Given the description of an element on the screen output the (x, y) to click on. 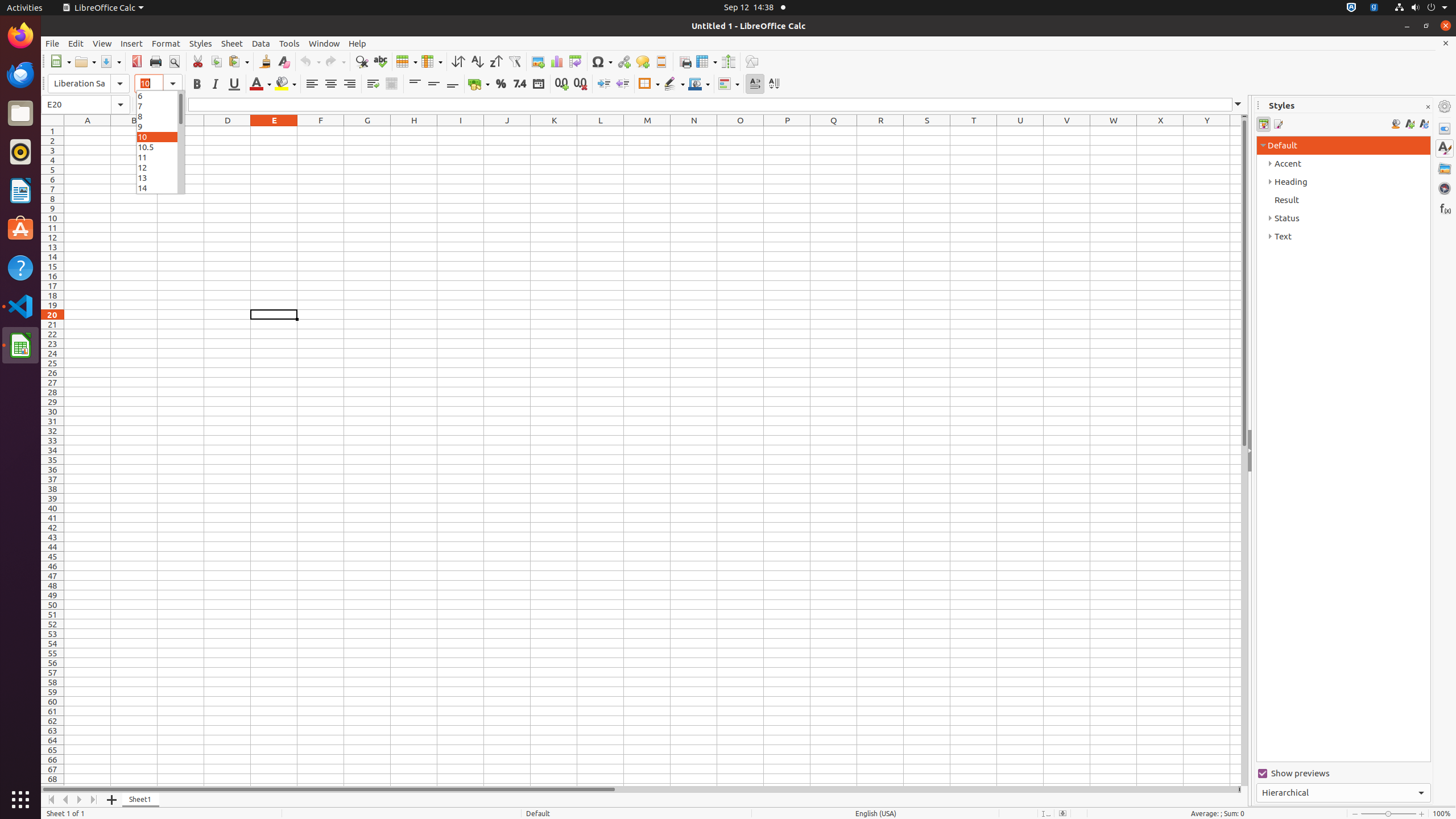
LibreOffice Calc Element type: push-button (20, 344)
Copy Element type: push-button (216, 61)
Show previews Element type: check-box (1343, 773)
Headers and Footers Element type: push-button (660, 61)
Page Styles Element type: push-button (1277, 123)
